Given the description of an element on the screen output the (x, y) to click on. 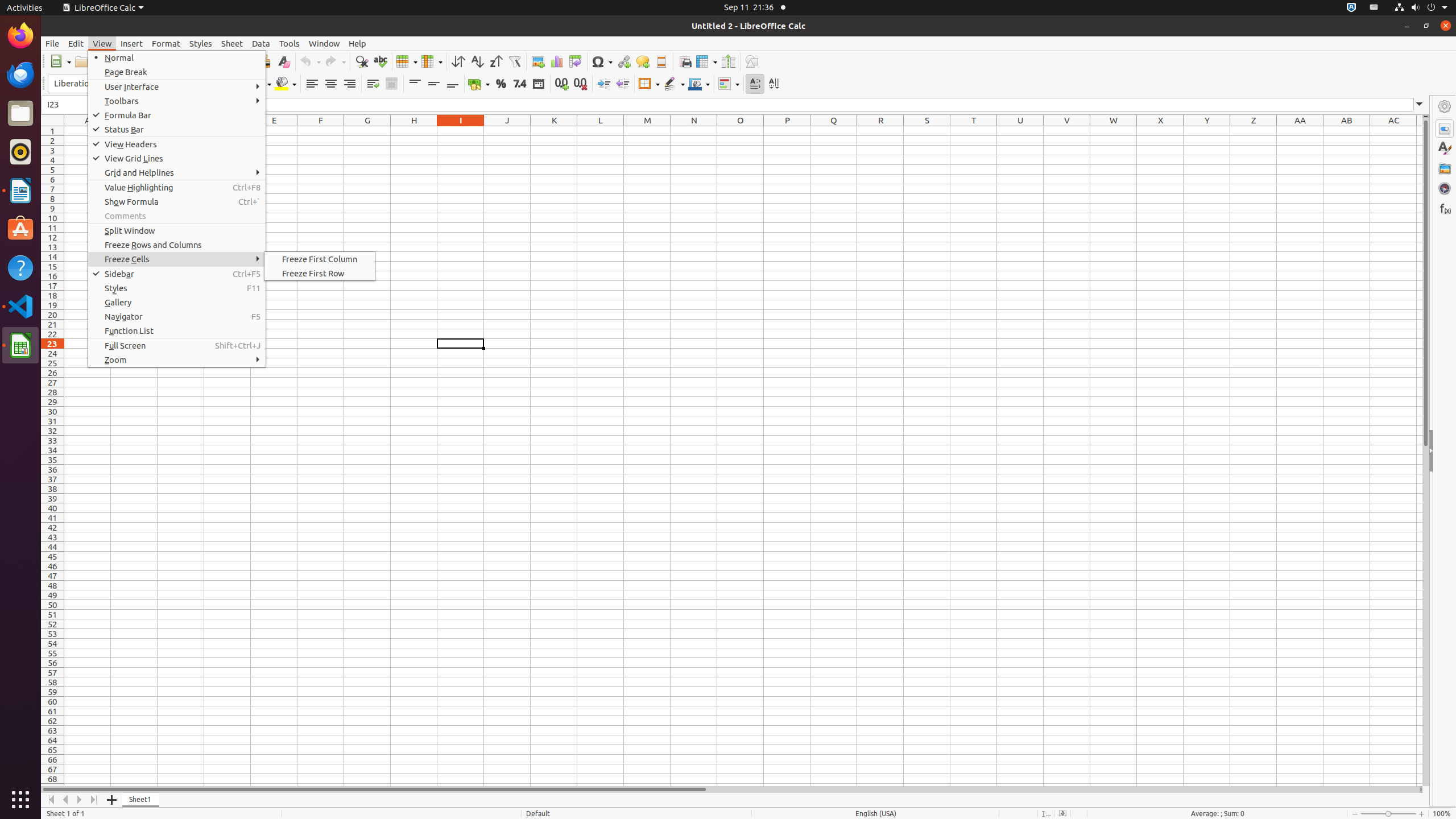
Horizontal scroll bar Element type: scroll-bar (729, 789)
V1 Element type: table-cell (1066, 130)
Move To End Element type: push-button (94, 799)
Sort Element type: push-button (457, 61)
R1 Element type: table-cell (880, 130)
